Given the description of an element on the screen output the (x, y) to click on. 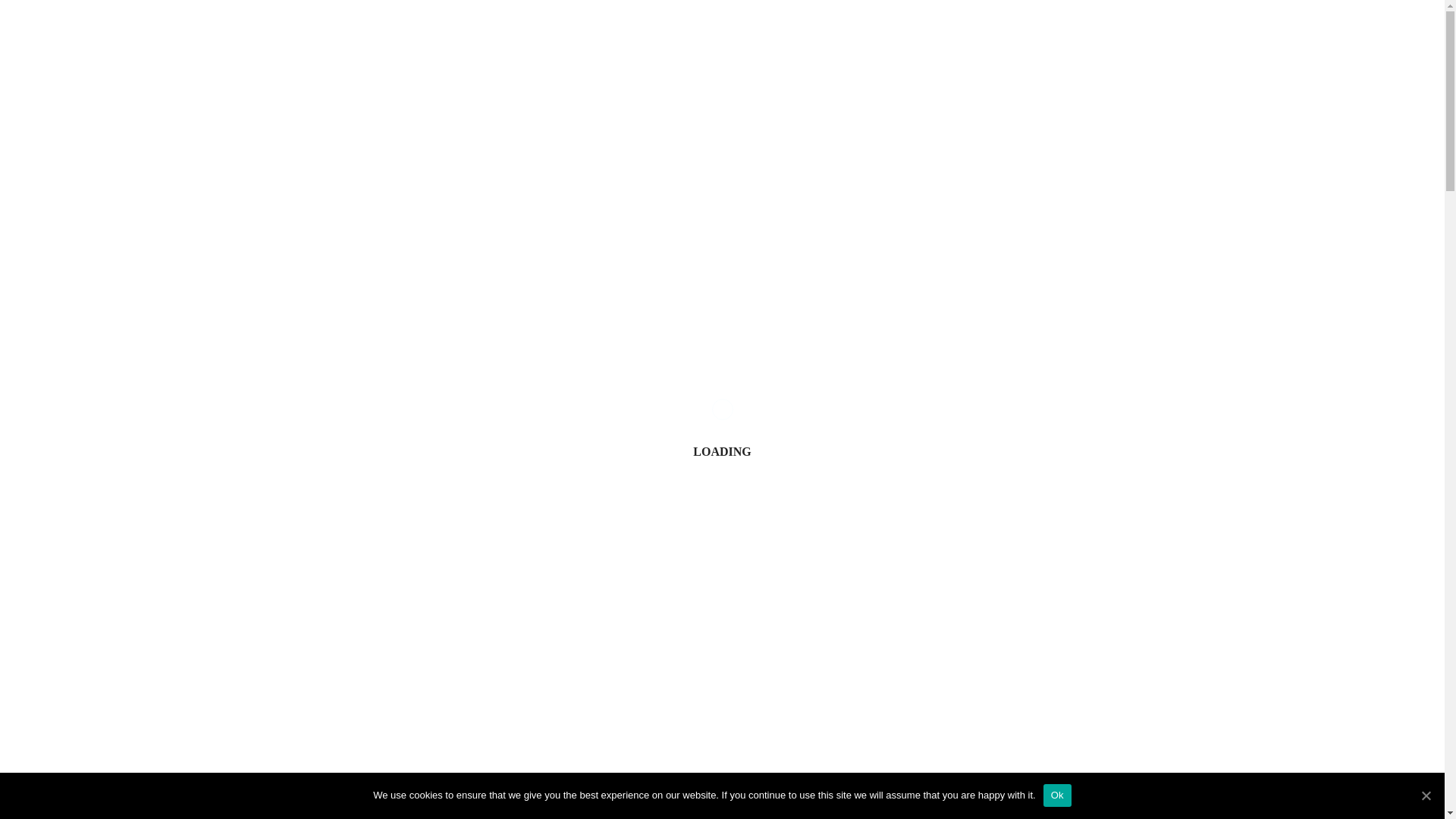
ART (722, 193)
Jewellery (929, 22)
Listing of the day (839, 22)
Art (560, 22)
watches (698, 22)
HighLifeChannel (702, 360)
Technology (624, 22)
Auto (510, 22)
Sport (759, 22)
Travel (995, 22)
